Given the description of an element on the screen output the (x, y) to click on. 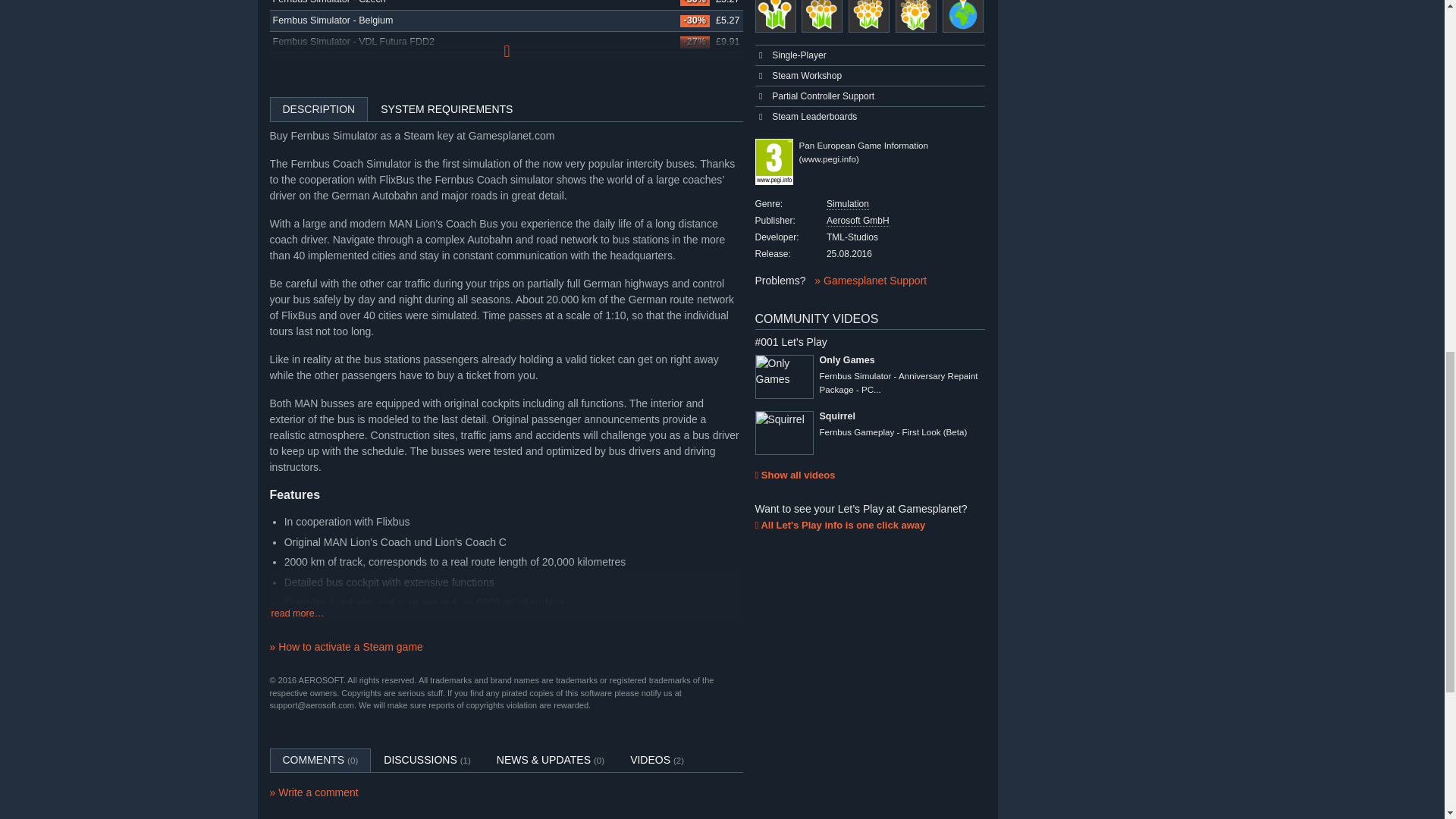
Achievement: This is my kingdom! (868, 16)
Achievement: To where no man has gone before (915, 16)
translation missing: en-GB.community.tabs.videos (649, 759)
Achievement: Well, where haven't I been to? (963, 16)
Achievement: Got to see them all (822, 16)
Achievement: So, this is my hood (775, 16)
